Given the description of an element on the screen output the (x, y) to click on. 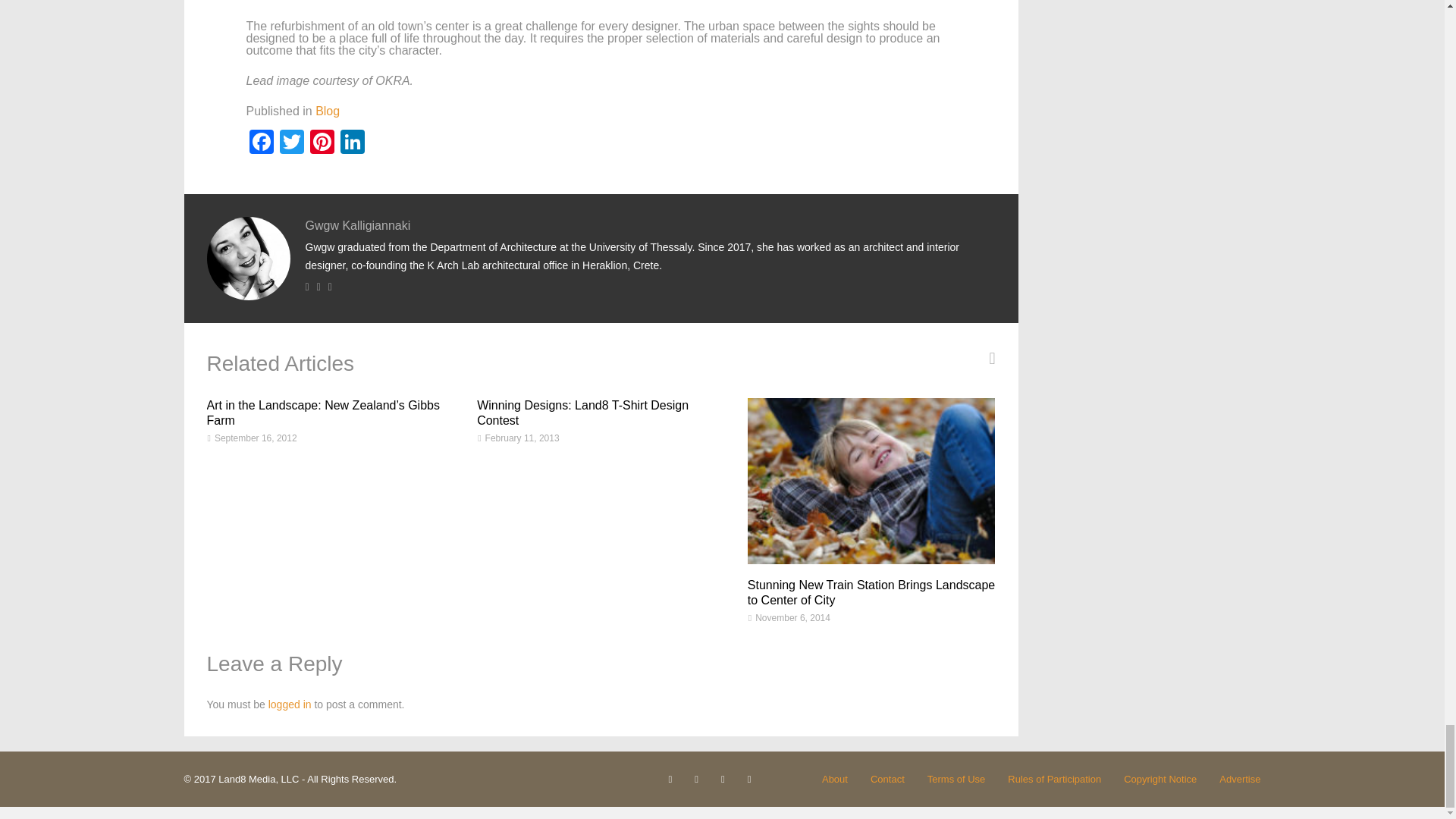
Winning Designs: Land8 T-Shirt Design Contest (582, 412)
LinkedIn (351, 143)
Pinterest (320, 143)
Twitter (290, 143)
Facebook (261, 143)
